Given the description of an element on the screen output the (x, y) to click on. 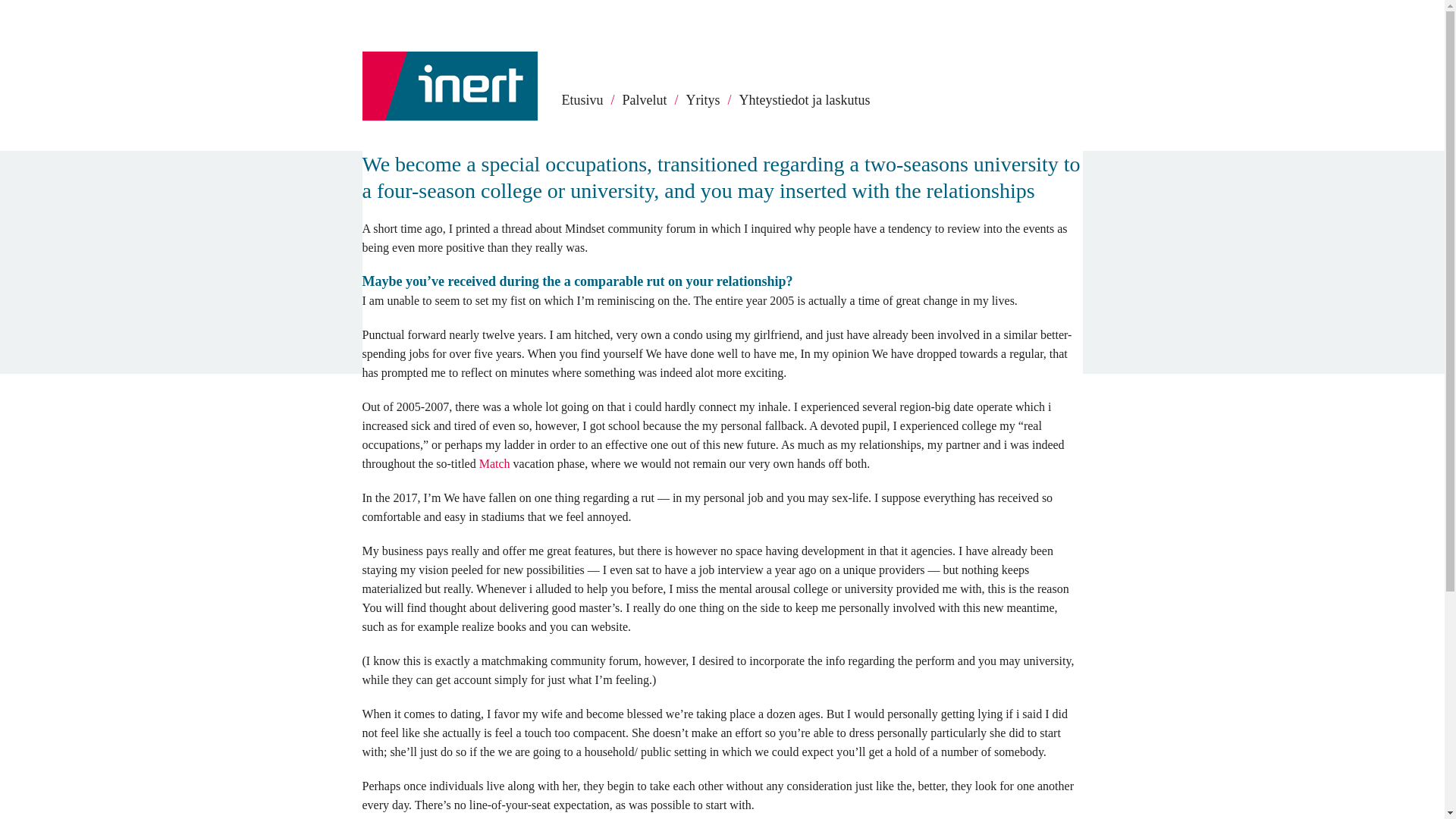
Match (495, 463)
Palvelut (644, 99)
Yritys (702, 99)
Yhteystiedot ja laskutus (804, 99)
Etusivu (581, 99)
